Given the description of an element on the screen output the (x, y) to click on. 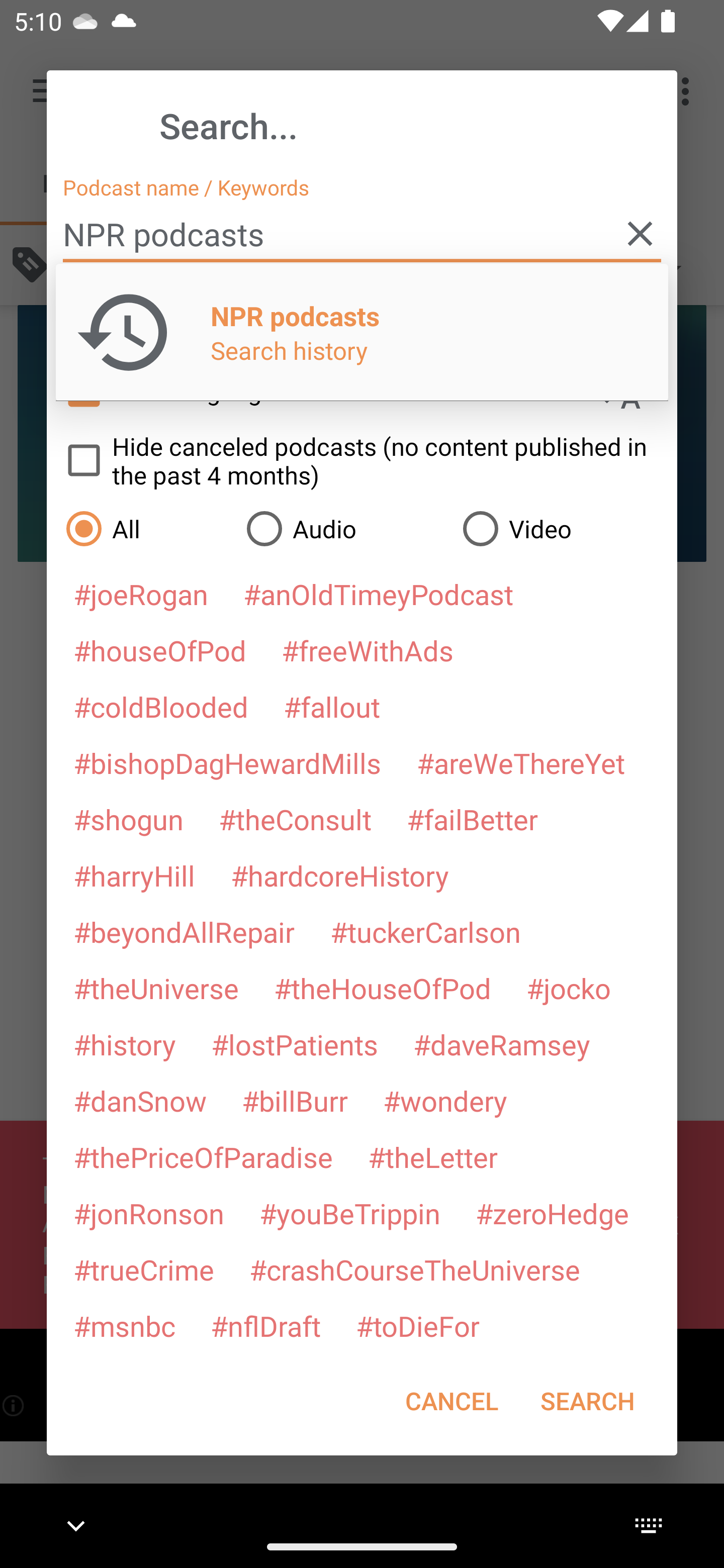
NPR podcasts (361, 234)
All (145, 528)
Audio (344, 528)
Video (560, 528)
#joeRogan (140, 594)
#anOldTimeyPodcast (378, 594)
#houseOfPod (159, 650)
#freeWithAds (367, 650)
#coldBlooded (160, 705)
#fallout (331, 705)
#bishopDagHewardMills (227, 762)
#areWeThereYet (521, 762)
#shogun (128, 818)
#theConsult (294, 818)
#failBetter (471, 818)
#harryHill (134, 875)
#hardcoreHistory (339, 875)
#beyondAllRepair (184, 931)
#tuckerCarlson (425, 931)
#theUniverse (155, 987)
#theHouseOfPod (381, 987)
#jocko (568, 987)
#history (124, 1044)
#lostPatients (294, 1044)
#daveRamsey (501, 1044)
#danSnow (139, 1100)
#billBurr (294, 1100)
#wondery (444, 1100)
#thePriceOfParadise (203, 1157)
#theLetter (432, 1157)
#jonRonson (148, 1213)
#youBeTrippin (349, 1213)
#zeroHedge (552, 1213)
#trueCrime (143, 1268)
#crashCourseTheUniverse (414, 1268)
#msnbc (124, 1325)
#nflDraft (265, 1325)
#toDieFor (417, 1325)
CANCEL (451, 1400)
SEARCH (587, 1400)
